Given the description of an element on the screen output the (x, y) to click on. 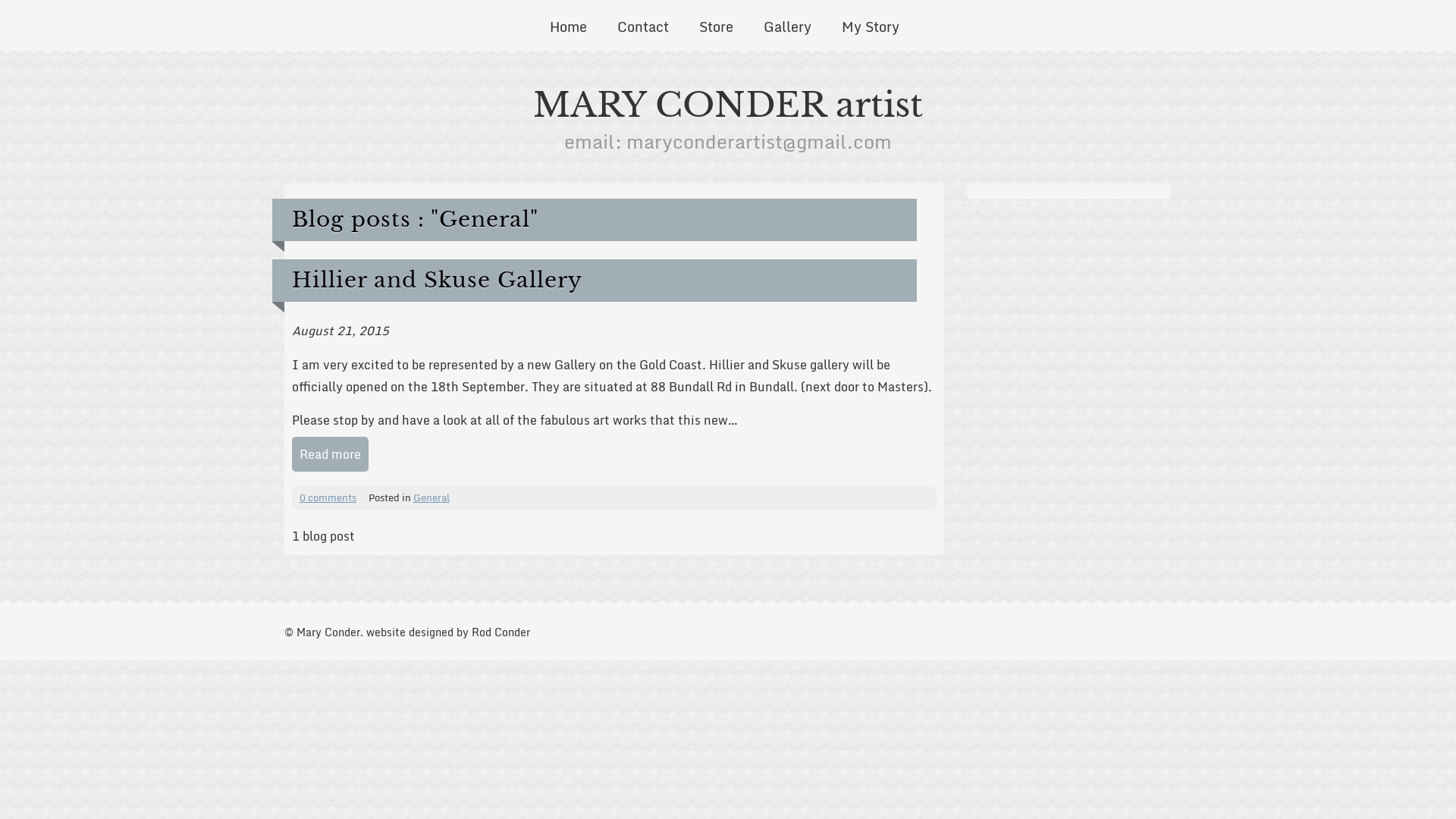
Gallery Element type: text (787, 26)
General Element type: text (431, 497)
Home Element type: text (568, 26)
Store Element type: text (715, 26)
Hillier and Skuse Gallery Element type: text (436, 279)
Read more Element type: text (329, 453)
Contact Element type: text (642, 26)
MARY CONDER artist Element type: text (727, 104)
My Story Element type: text (869, 26)
0 comments Element type: text (327, 497)
